Given the description of an element on the screen output the (x, y) to click on. 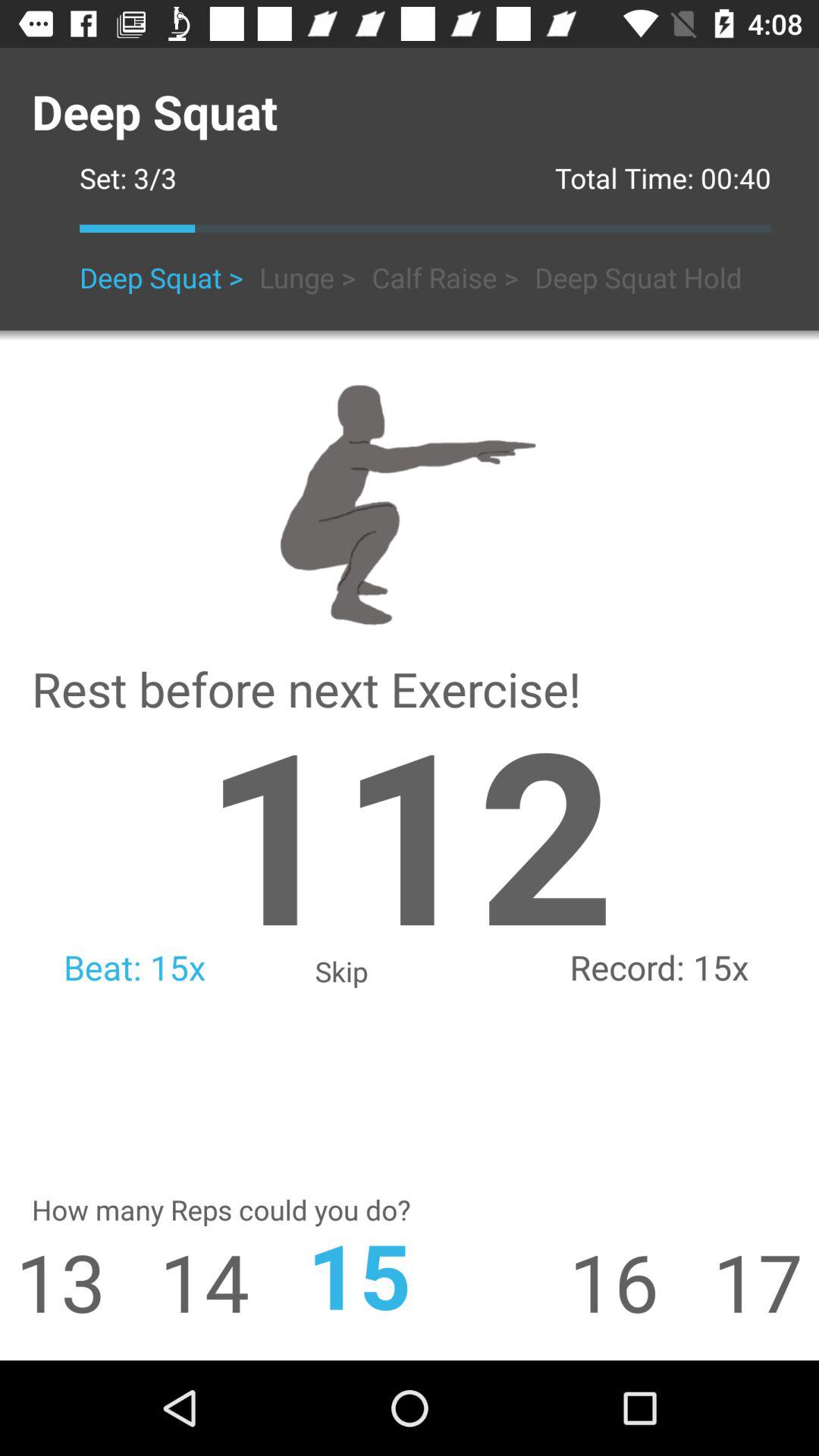
choose item to the right of 15 item (641, 1281)
